Given the description of an element on the screen output the (x, y) to click on. 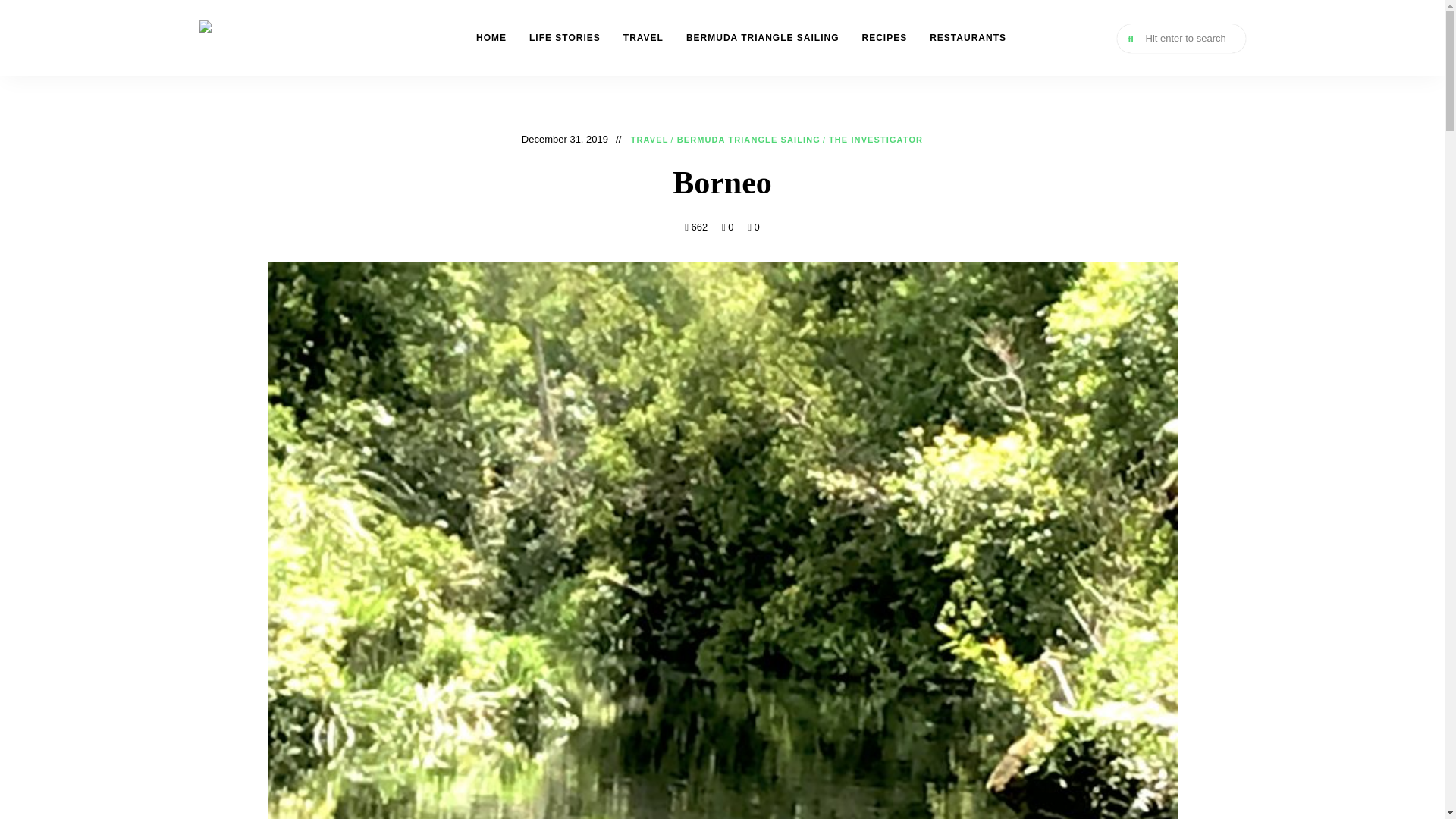
THE INVESTIGATOR (279, 91)
BERMUDA TRIANGLE SAILING (749, 140)
THE INVESTIGATOR (875, 140)
0 (754, 226)
RECIPES (884, 38)
TRAVEL (649, 140)
LIFE STORIES (564, 38)
BERMUDA TRIANGLE SAILING (762, 38)
RESTAURANTS (967, 38)
